Given the description of an element on the screen output the (x, y) to click on. 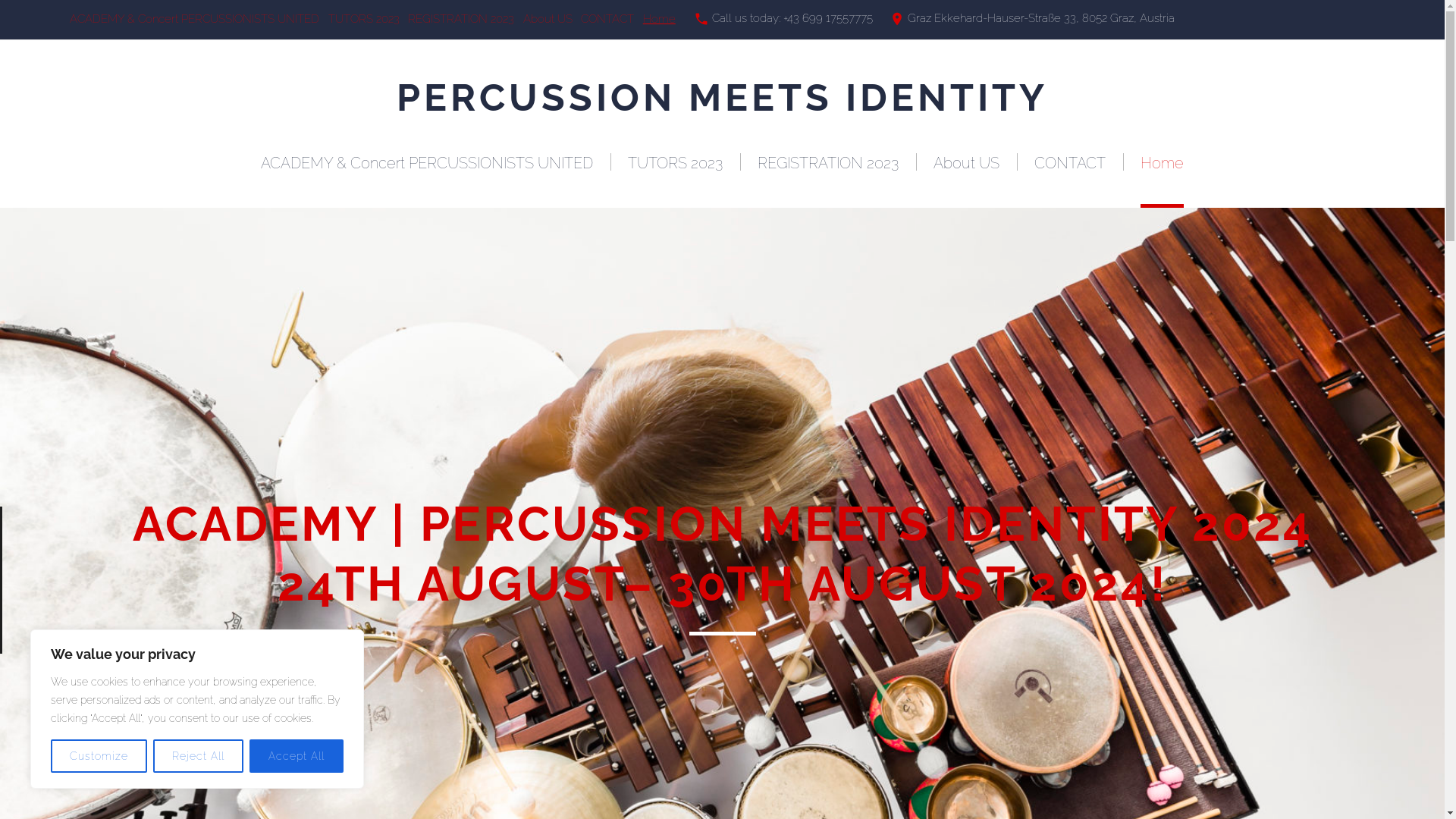
CONTACT Element type: text (606, 18)
Accept All Element type: text (296, 755)
REGISTRATION 2023 Element type: text (460, 18)
REGISTRATION 2023 Element type: text (827, 162)
CONTACT Element type: text (1069, 162)
Home Element type: text (1161, 162)
ACADEMY & Concert PERCUSSIONISTS UNITED Element type: text (426, 162)
Customize Element type: text (98, 755)
TUTORS 2023 Element type: text (363, 18)
ACADEMY & Concert PERCUSSIONISTS UNITED Element type: text (194, 18)
About US Element type: text (547, 18)
About US Element type: text (966, 162)
Home Element type: text (659, 18)
Reject All Element type: text (198, 755)
PERCUSSION MEETS IDENTITY Element type: text (722, 97)
TUTORS 2023 Element type: text (674, 162)
